Given the description of an element on the screen output the (x, y) to click on. 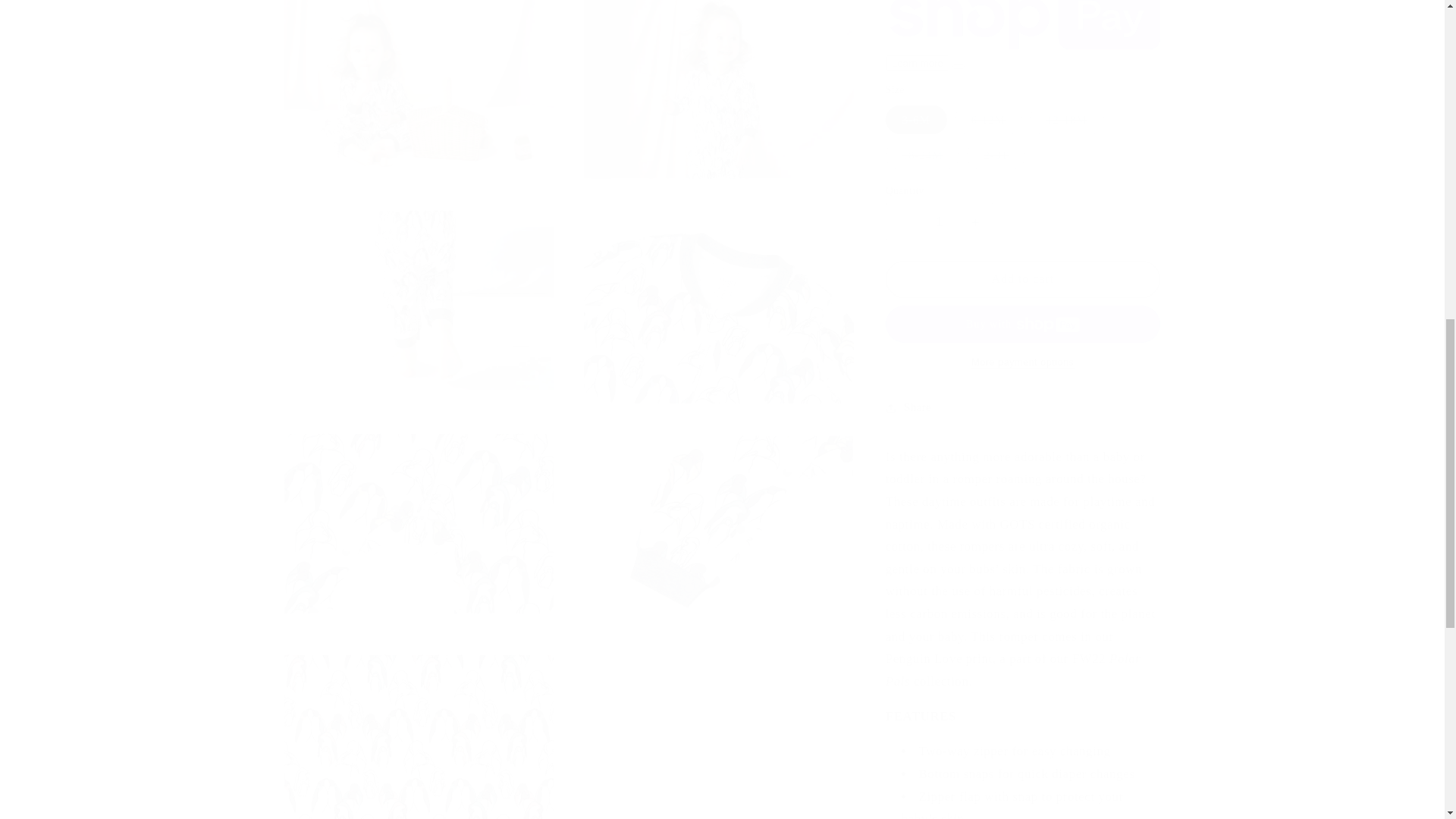
Open media 2 in modal (418, 81)
Open media 5 in modal (718, 291)
Open media 7 in modal (718, 512)
Open media 6 in modal (418, 512)
Open media 3 in modal (718, 81)
Open media 8 in modal (418, 728)
Open media 4 in modal (418, 291)
